Given the description of an element on the screen output the (x, y) to click on. 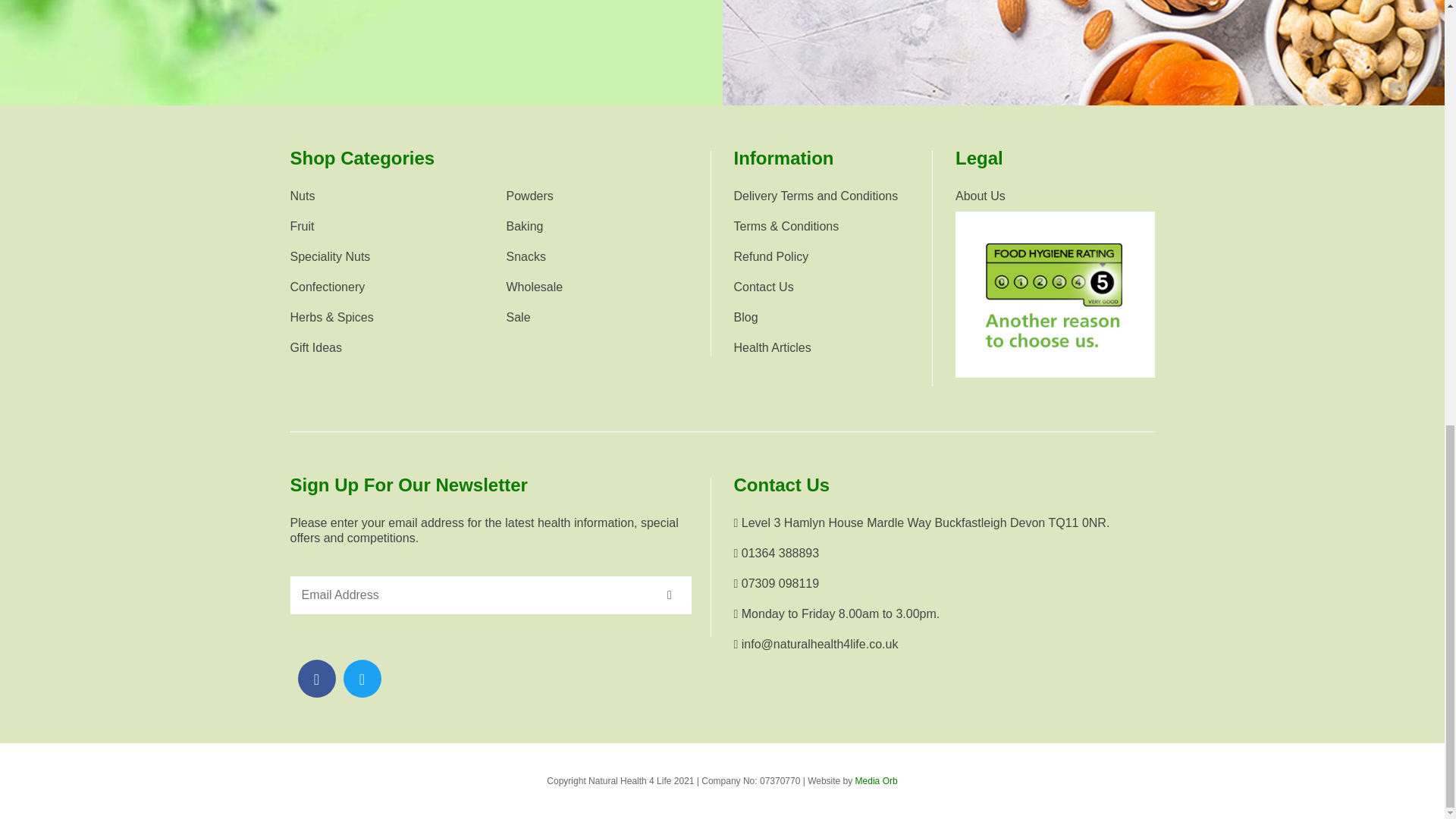
Visit our Facebook Page! (316, 678)
Subscribe to our Newsletter (669, 595)
Visit our Twitter Page! (362, 678)
